Given the description of an element on the screen output the (x, y) to click on. 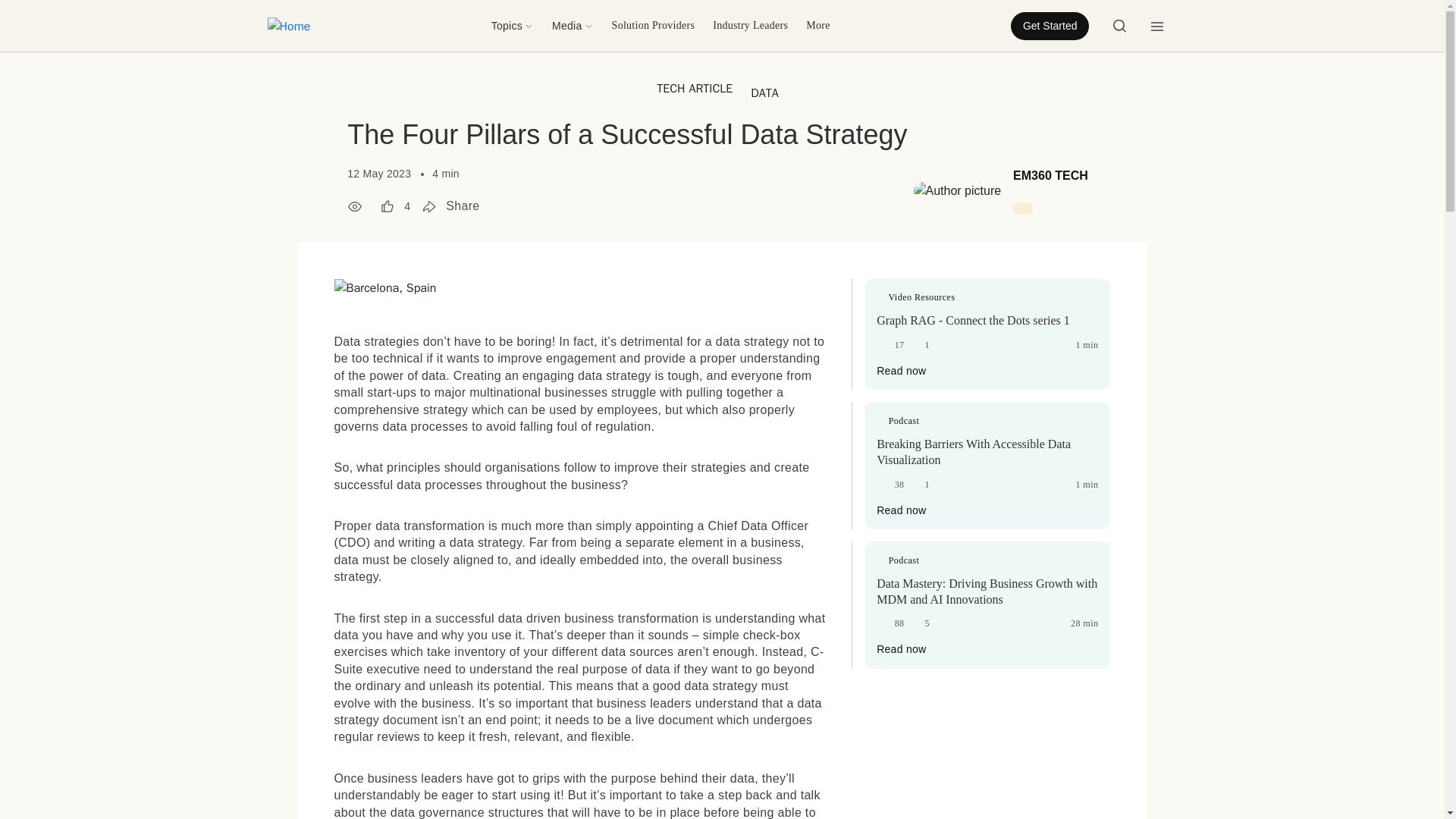
Home (288, 25)
Skip to main content (60, 11)
